Given the description of an element on the screen output the (x, y) to click on. 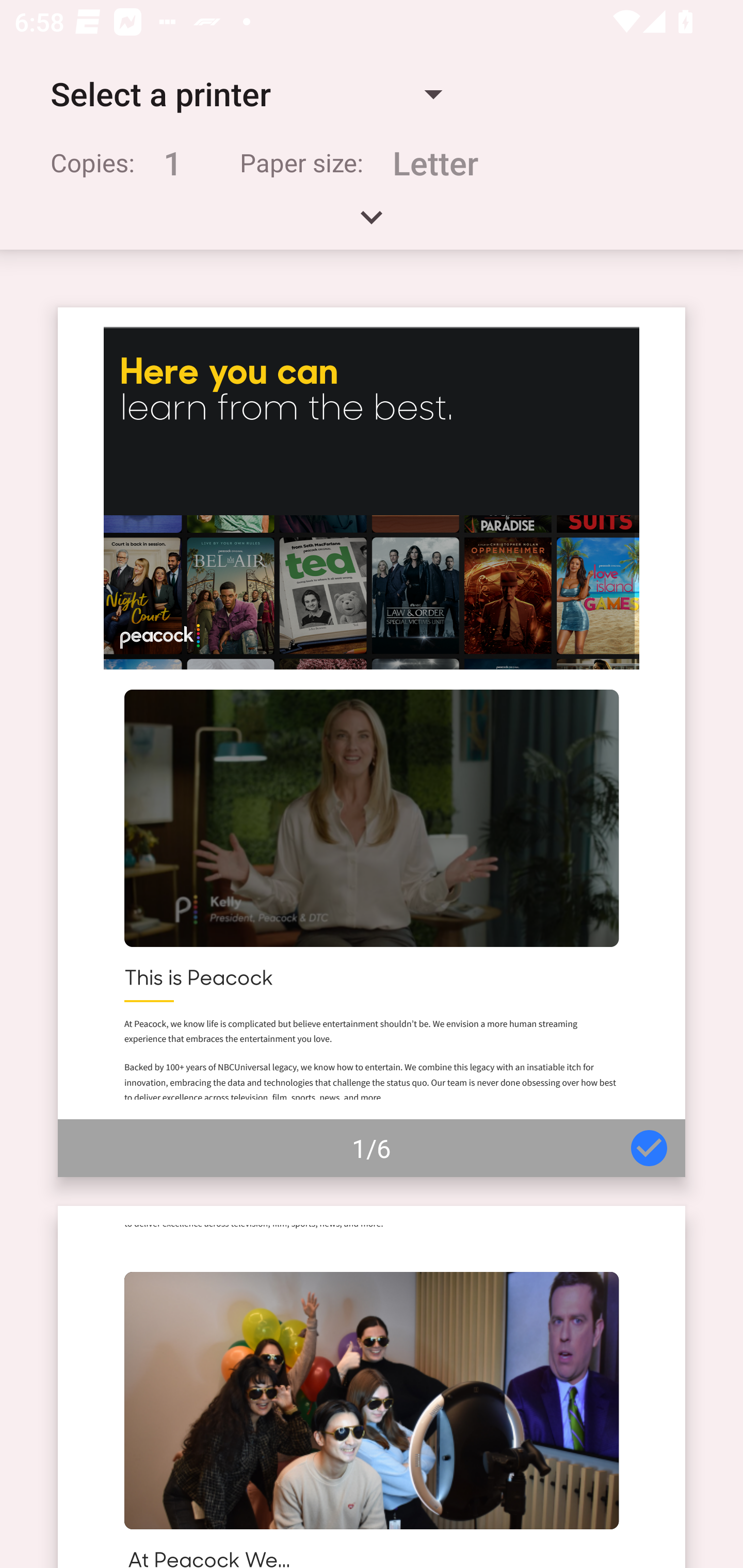
Select a printer (245, 93)
Expand handle (371, 224)
Page 1 of 6 1/6 (371, 742)
Page 2 of 6 (371, 1386)
